Given the description of an element on the screen output the (x, y) to click on. 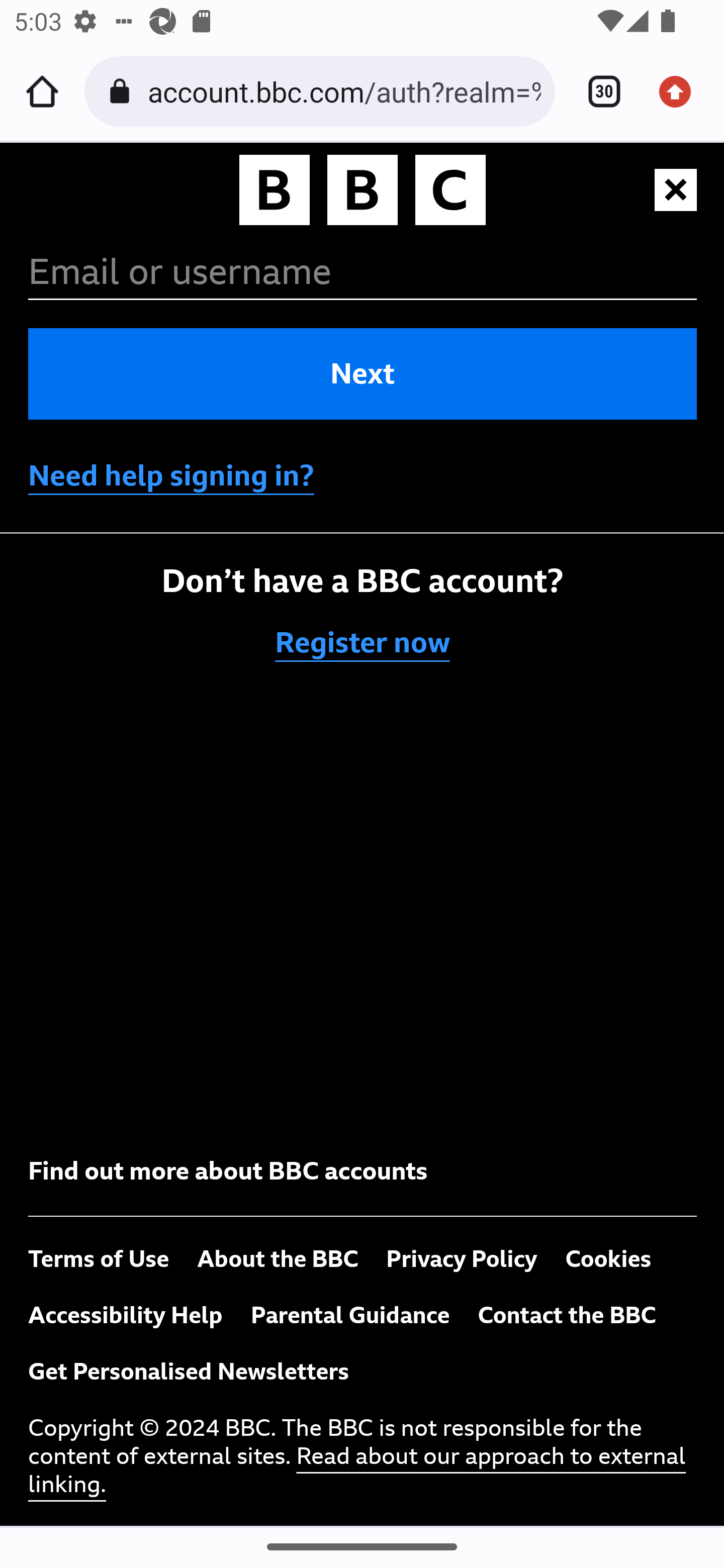
Home (42, 91)
Connection is secure (122, 91)
Switch or close tabs (597, 91)
Update available. More options (681, 91)
Close and return to where you originally came from (676, 190)
Go to the BBC Homepage (362, 193)
Next (363, 373)
Need help signing in? (171, 475)
Register now (363, 642)
Find out more about BBC accounts (228, 1170)
Terms of Use (99, 1258)
About the BBC (277, 1258)
Privacy Policy (461, 1258)
Cookies (608, 1258)
Accessibility Help (125, 1315)
Parental Guidance (349, 1315)
Contact the BBC (565, 1315)
Get Personalised Newsletters (188, 1371)
Read about our approach to external linking. (357, 1470)
